Given the description of an element on the screen output the (x, y) to click on. 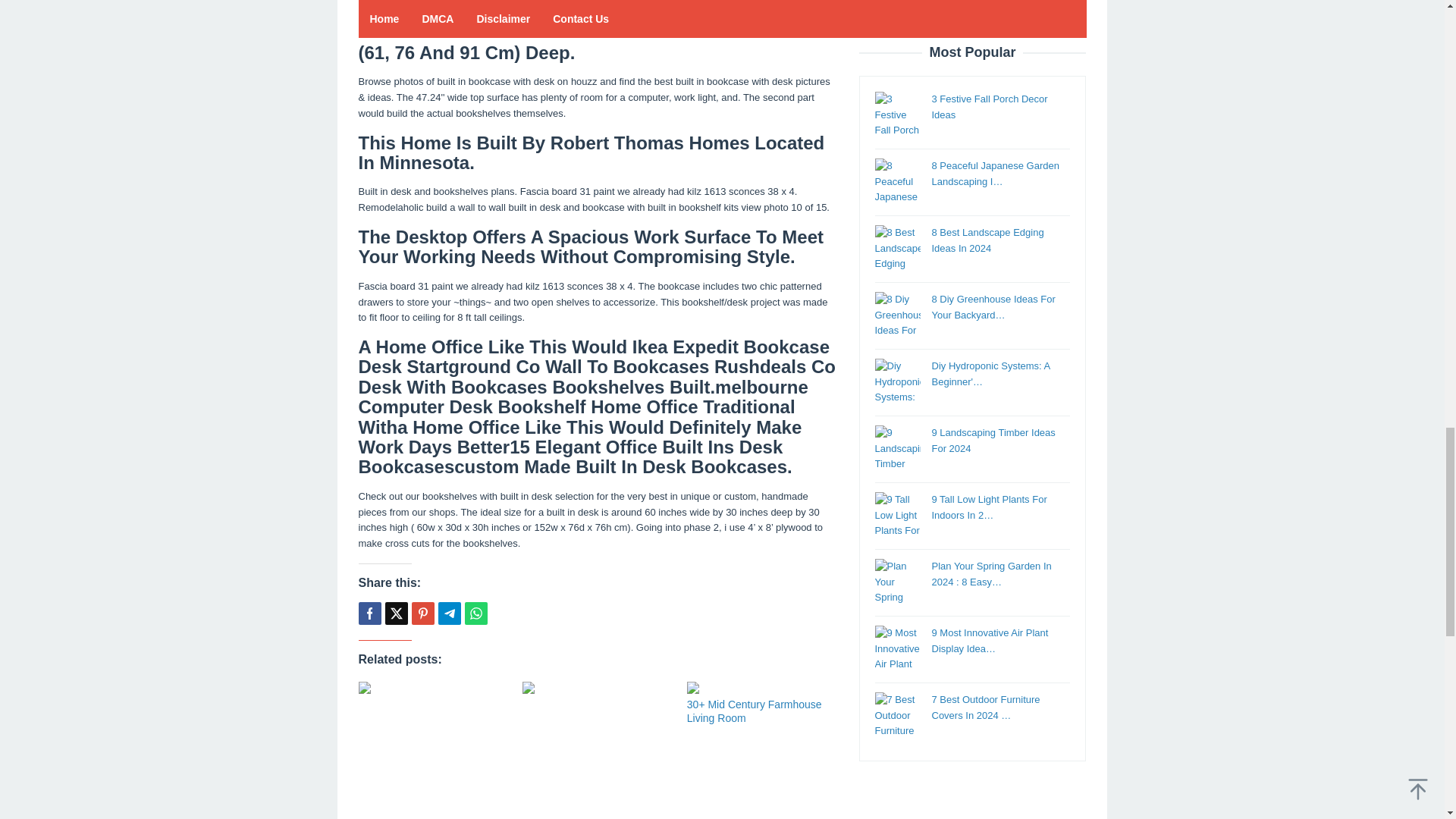
Whatsapp (475, 612)
Tweet this (396, 612)
Share this (369, 612)
Pin this (421, 612)
Telegram Share (449, 612)
